Given the description of an element on the screen output the (x, y) to click on. 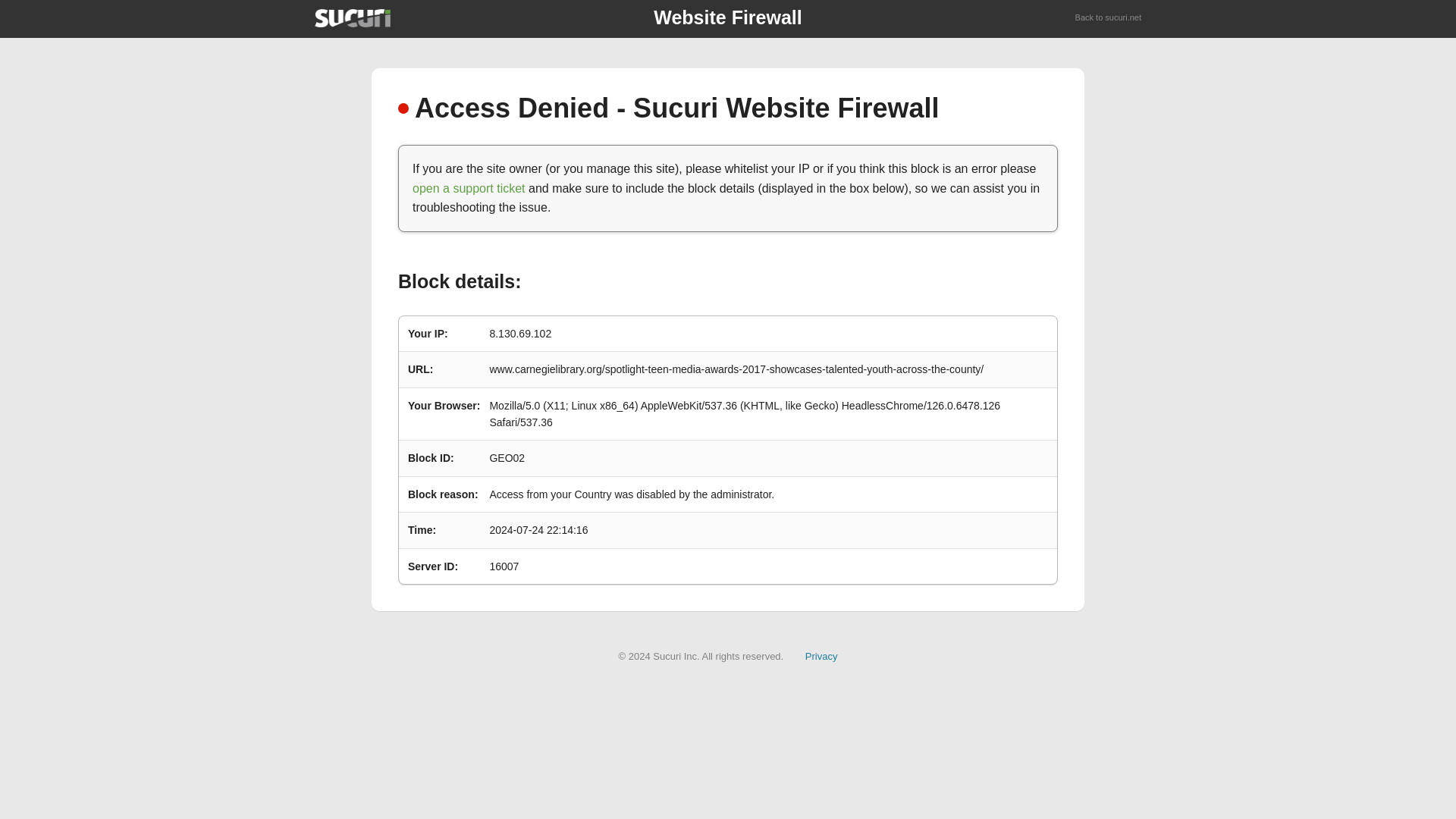
open a support ticket (468, 187)
Back to sucuri.net (1108, 18)
Privacy (821, 655)
